Given the description of an element on the screen output the (x, y) to click on. 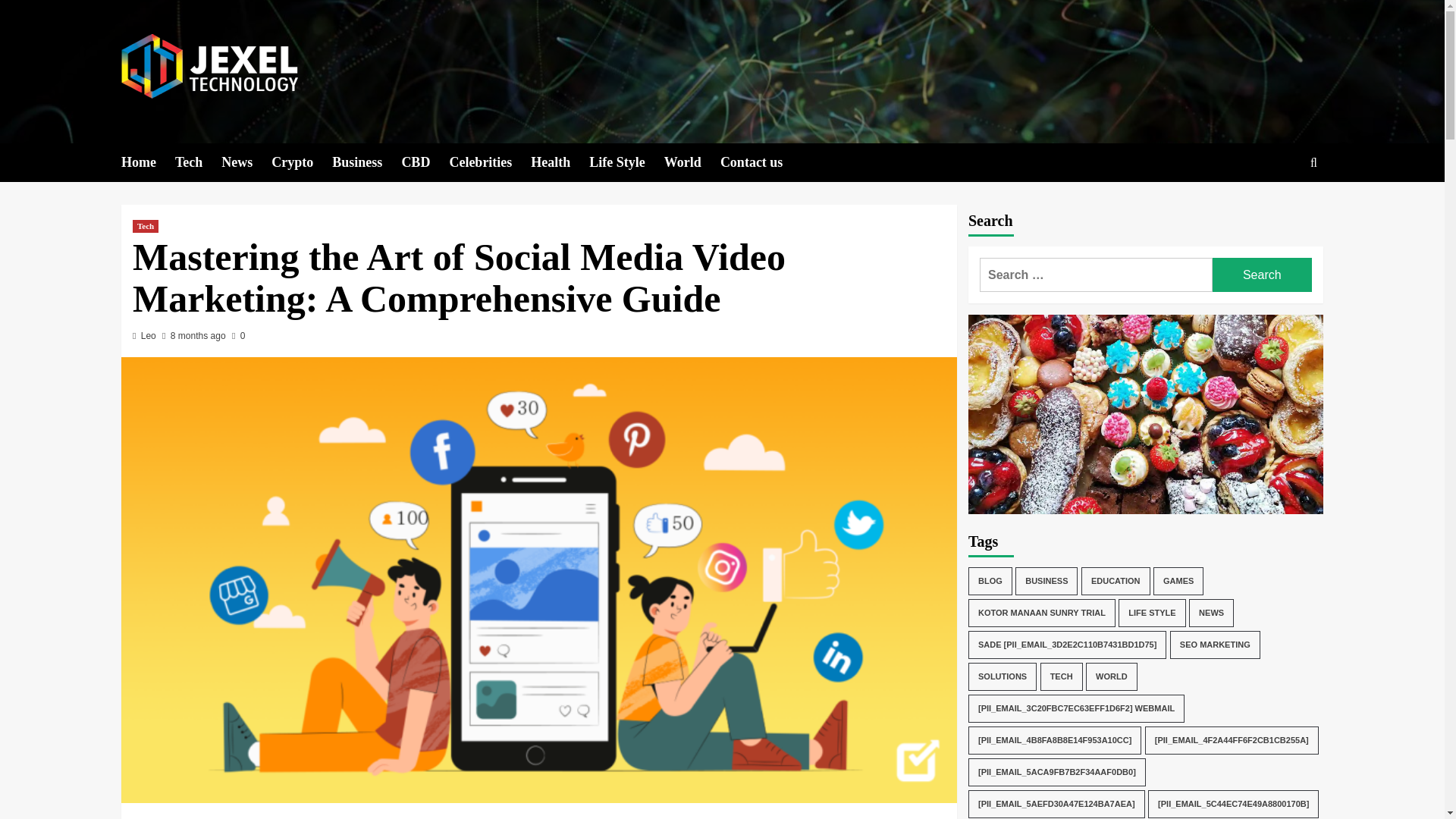
8 months ago (197, 335)
News (245, 162)
Health (560, 162)
Leo (148, 335)
Home (147, 162)
World (691, 162)
Search (1278, 209)
Life Style (626, 162)
Tech (197, 162)
Search (1261, 274)
Search (1261, 274)
Contact us (761, 162)
0 (237, 335)
Crypto (300, 162)
Celebrities (489, 162)
